Given the description of an element on the screen output the (x, y) to click on. 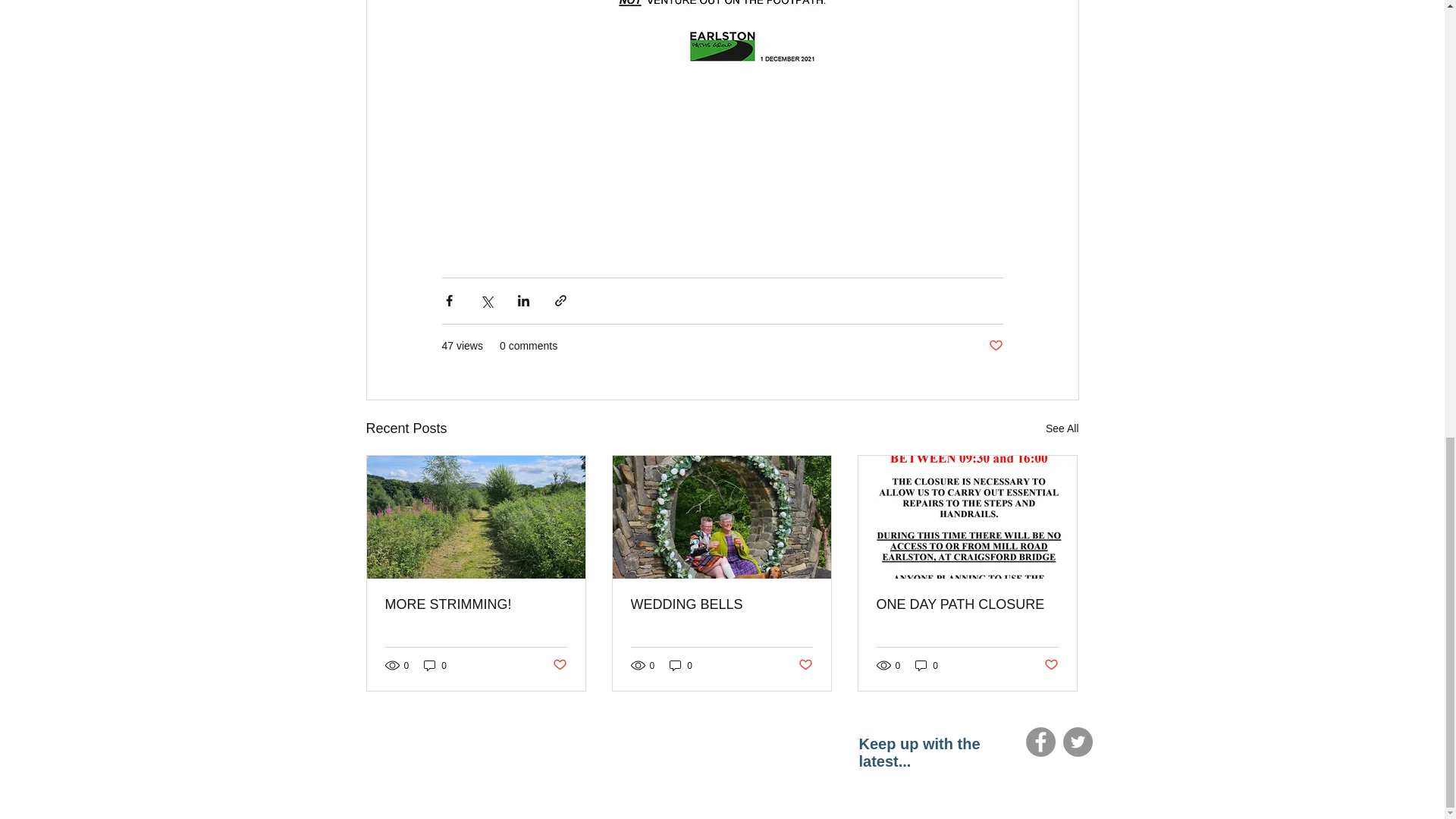
0 (681, 665)
ONE DAY PATH CLOSURE (967, 604)
Post not marked as liked (995, 345)
WEDDING BELLS (721, 604)
0 (926, 665)
Post not marked as liked (558, 665)
MORE STRIMMING! (476, 604)
See All (1061, 428)
0 (435, 665)
Post not marked as liked (804, 665)
